Given the description of an element on the screen output the (x, y) to click on. 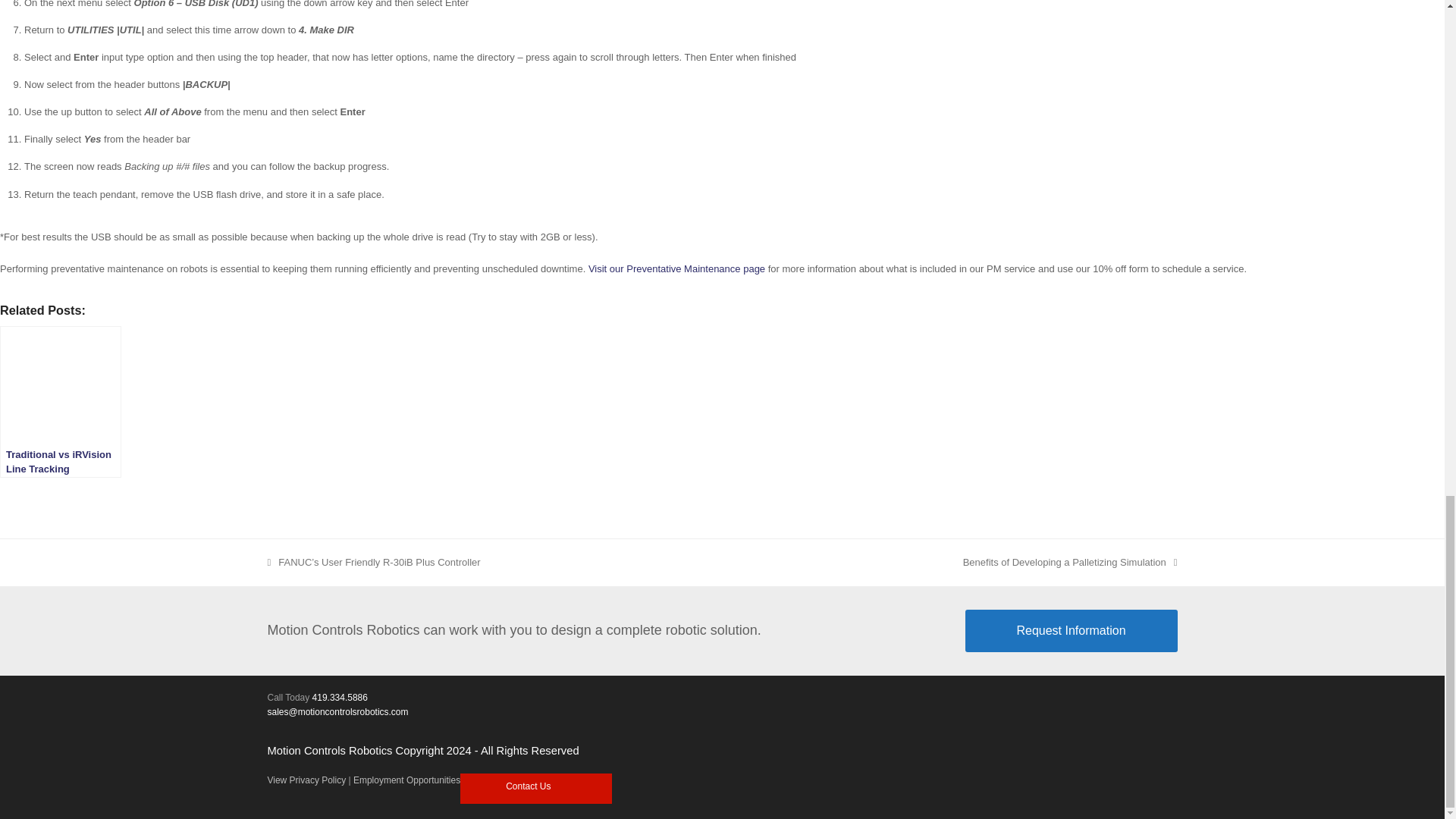
Employment Opportunities (406, 779)
Traditional vs iRVision Line Tracking (60, 401)
